Given the description of an element on the screen output the (x, y) to click on. 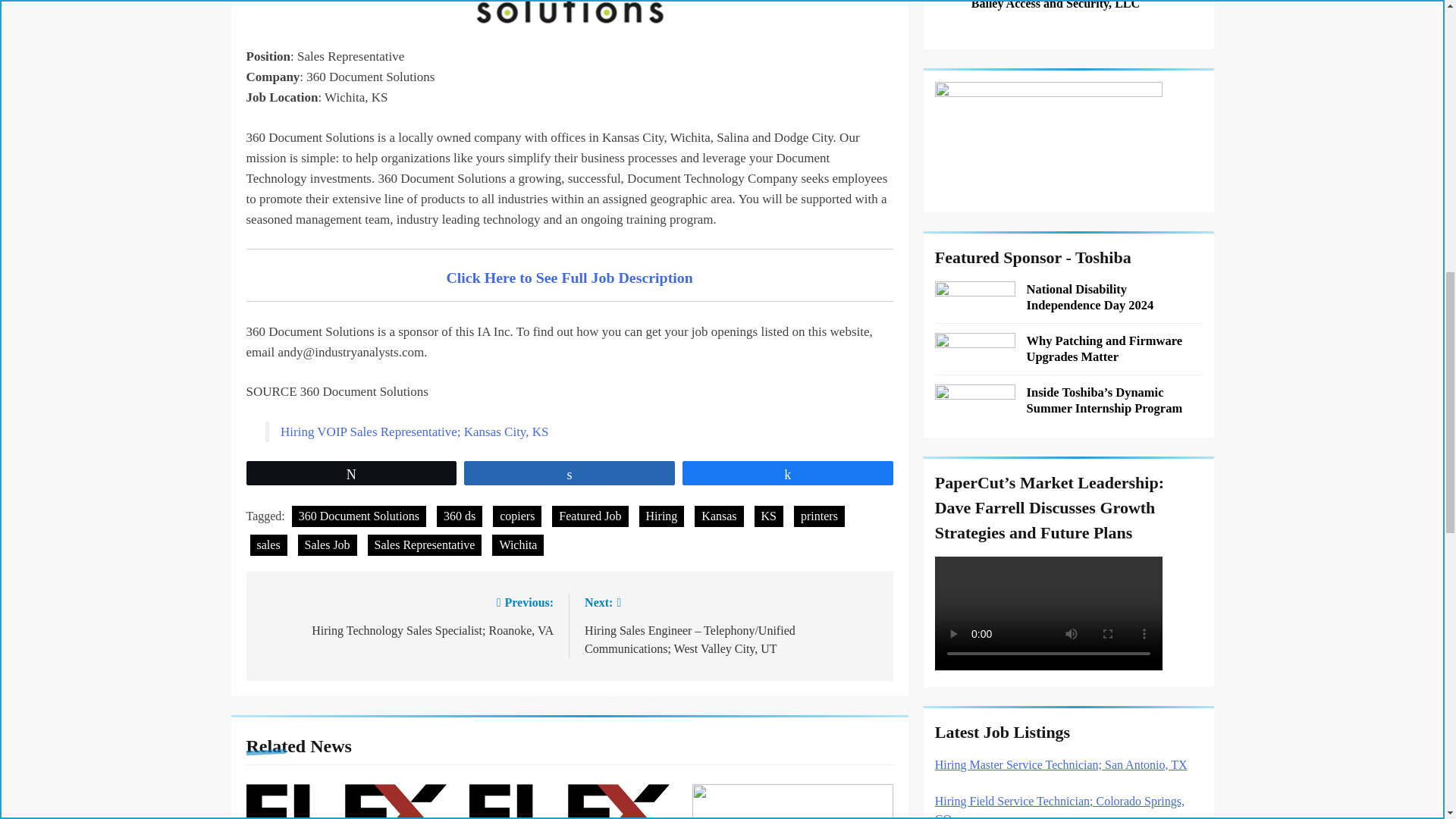
Click Here to See Full Job Description (569, 276)
Hiring Master Service Technician; San Antonio, TX (1061, 764)
Hiring VOIP Sales Representative; Kansas City, KS (414, 431)
Hiring Field Service Technician; Colorado Springs, CO (1059, 806)
